Given the description of an element on the screen output the (x, y) to click on. 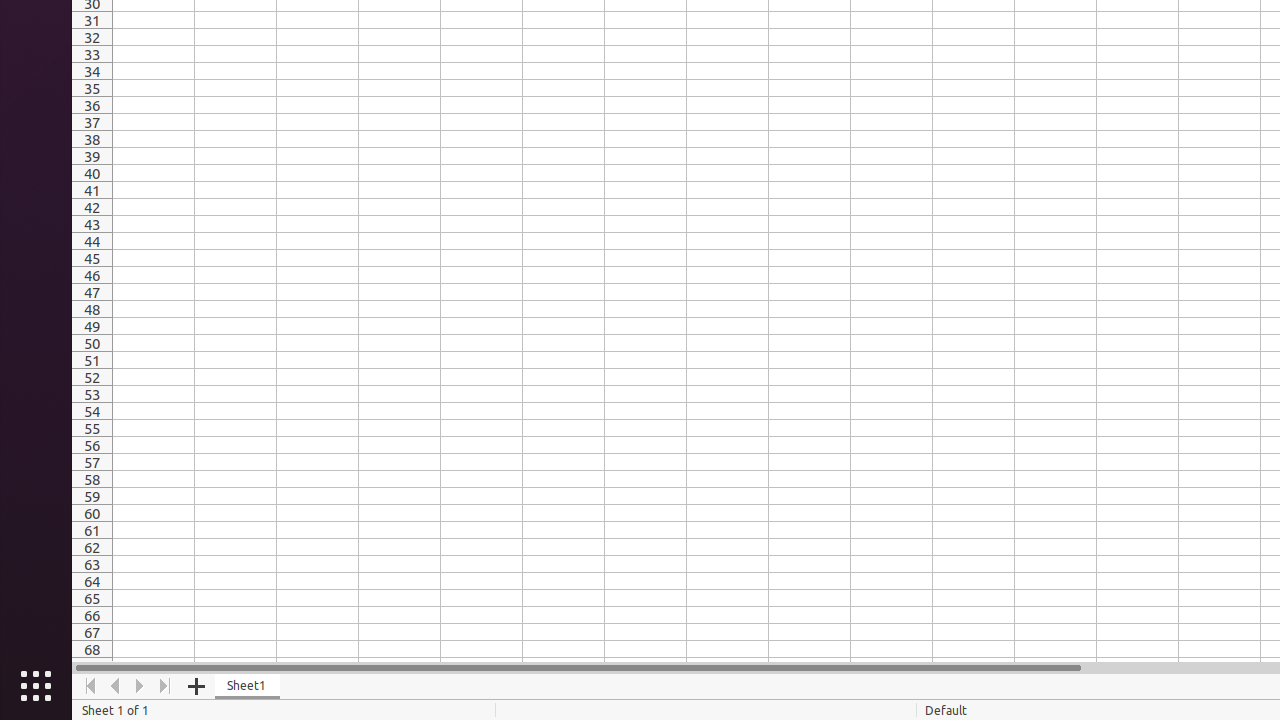
Sheet1 Element type: page-tab (247, 686)
Move To Home Element type: push-button (90, 686)
Move Left Element type: push-button (115, 686)
Move Right Element type: push-button (140, 686)
Show Applications Element type: toggle-button (36, 686)
